Given the description of an element on the screen output the (x, y) to click on. 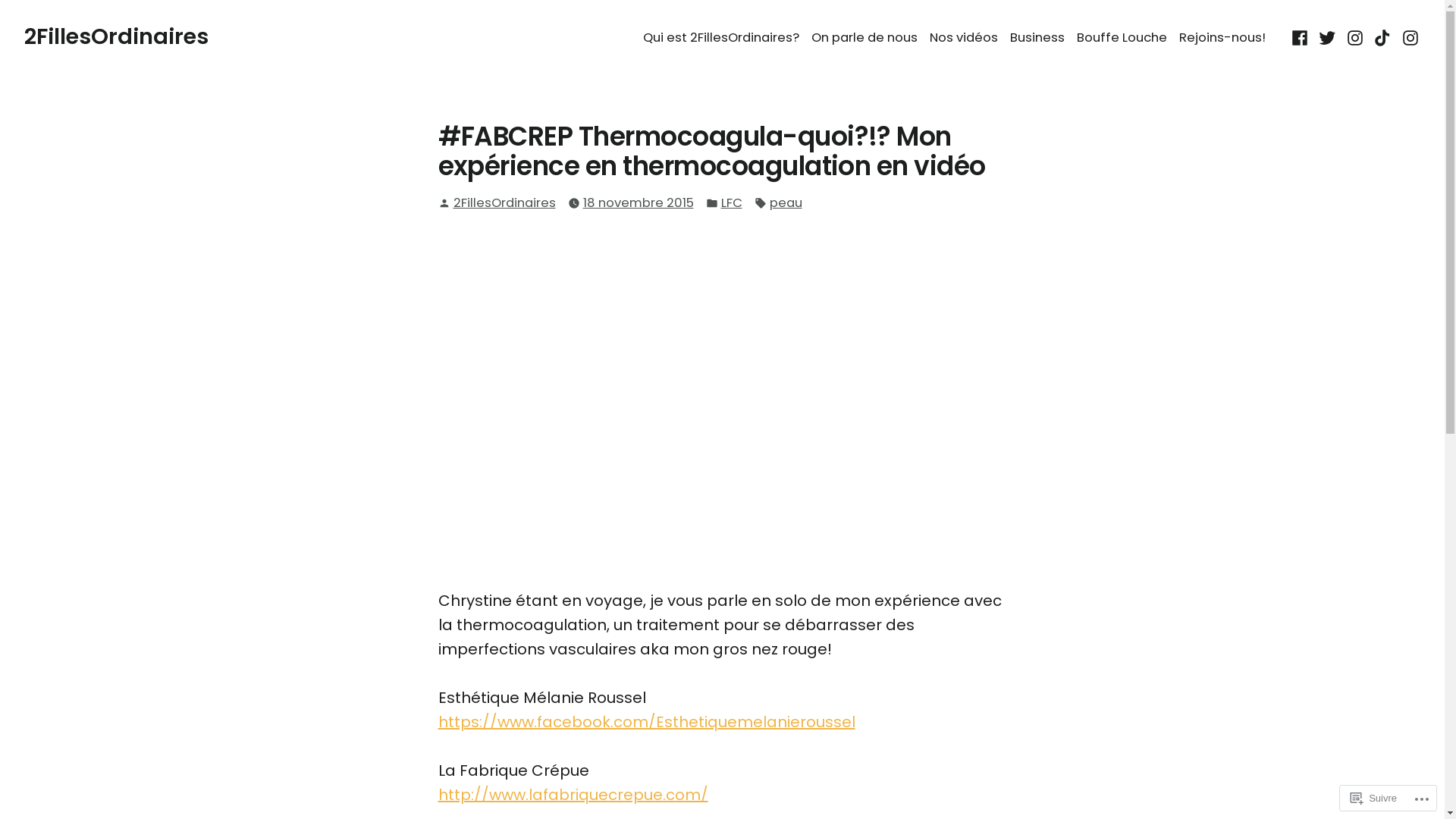
2FillesOrdinaires Element type: text (116, 36)
http://www.lafabriquecrepue.com/ Element type: text (573, 794)
On parle de nous Element type: text (864, 38)
2FillesOrdinaires Element type: text (504, 202)
https://www.facebook.com/Esthetiquemelanieroussel Element type: text (646, 721)
Bouffe Louche Element type: text (1121, 38)
Qui est 2FillesOrdinaires? Element type: text (724, 38)
LFC Element type: text (730, 203)
peau Element type: text (784, 203)
Suivre Element type: text (1373, 797)
Business Element type: text (1037, 38)
18 novembre 2015 Element type: text (637, 203)
Rejoins-nous! Element type: text (1219, 38)
